Given the description of an element on the screen output the (x, y) to click on. 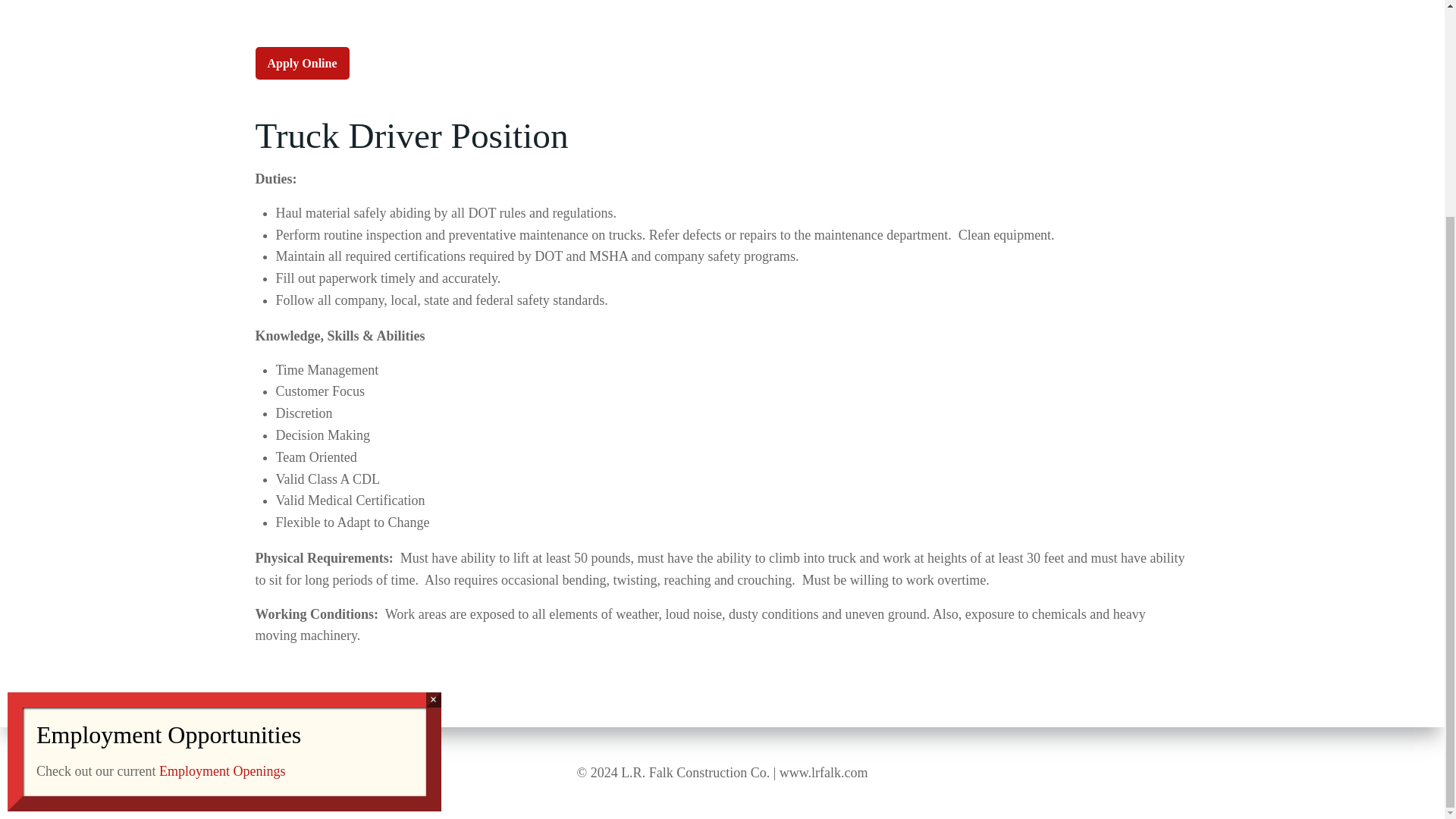
Apply Online (301, 63)
Employment Openings (221, 486)
